Given the description of an element on the screen output the (x, y) to click on. 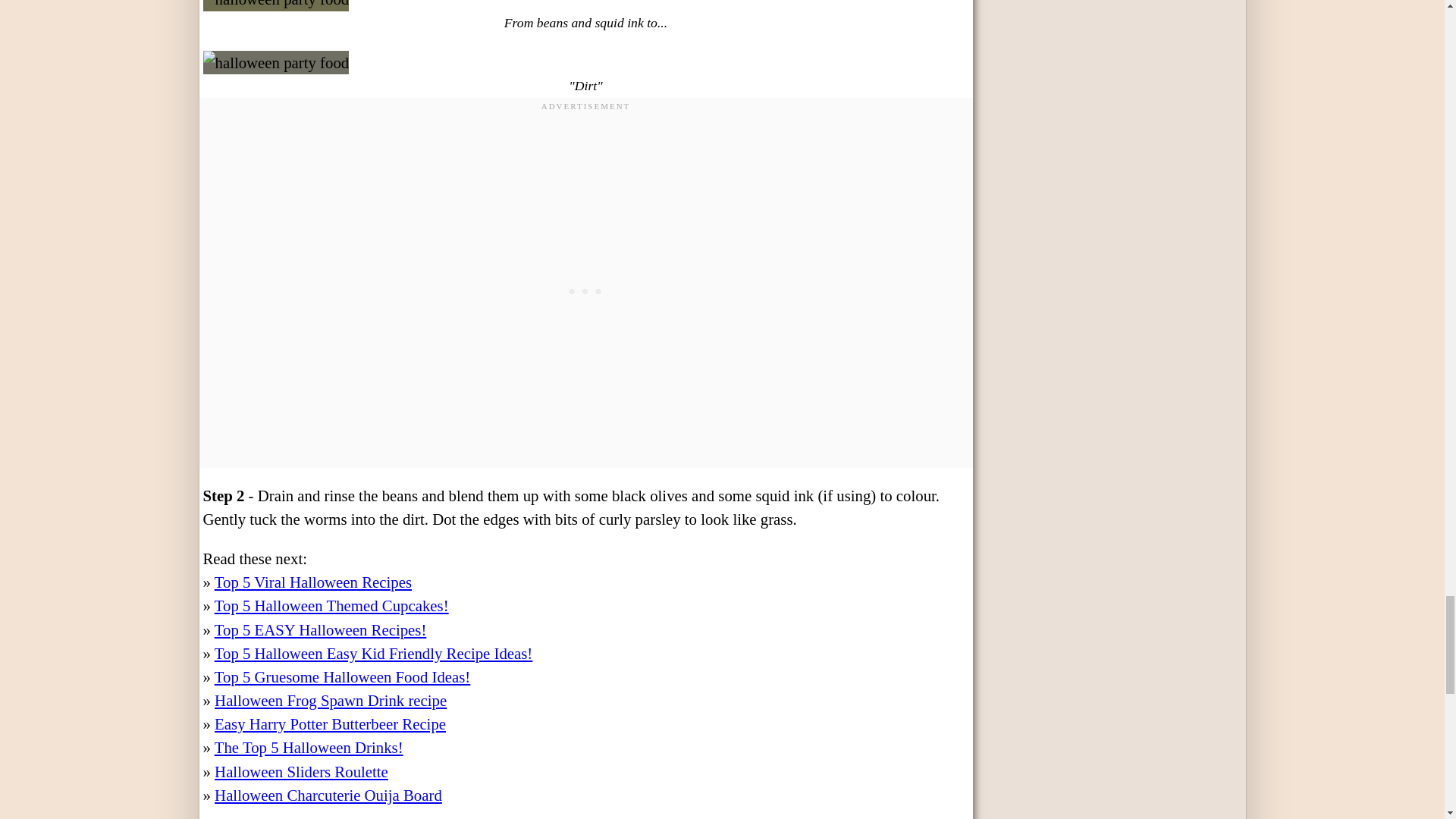
Halloween Charcuterie Ouija Board (328, 794)
Top 5 EASY Halloween Recipes! (320, 628)
The Top 5 Halloween Drinks! (308, 746)
Halloween Frog Spawn Drink recipe (330, 700)
Top 5 Halloween Themed Cupcakes! (331, 605)
Top 5 Viral Halloween Recipes (313, 581)
Top 5 Gruesome Halloween Food Ideas! (342, 676)
Easy Harry Potter Butterbeer Recipe (329, 723)
Halloween Sliders Roulette (301, 771)
Top 5 Halloween Easy Kid Friendly Recipe Ideas! (373, 652)
